Given the description of an element on the screen output the (x, y) to click on. 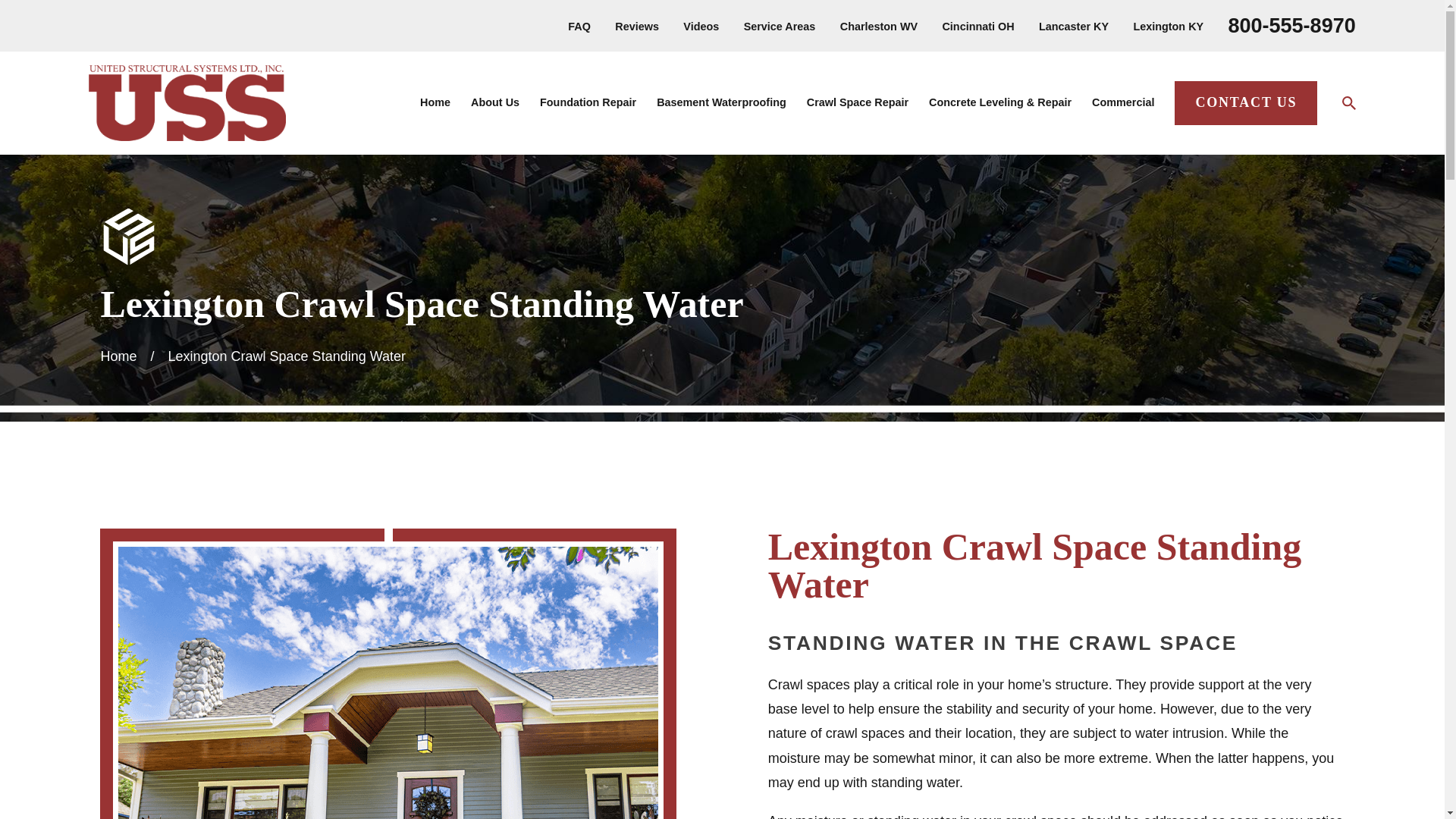
Foundation Repair (588, 102)
Lexington KY (1168, 26)
Charleston WV (878, 26)
Videos (700, 26)
Cincinnati OH (977, 26)
Basement Waterproofing (721, 102)
Lancaster KY (1073, 26)
Crawl Space Repair (857, 102)
Reviews (636, 26)
Service Areas (779, 26)
